Given the description of an element on the screen output the (x, y) to click on. 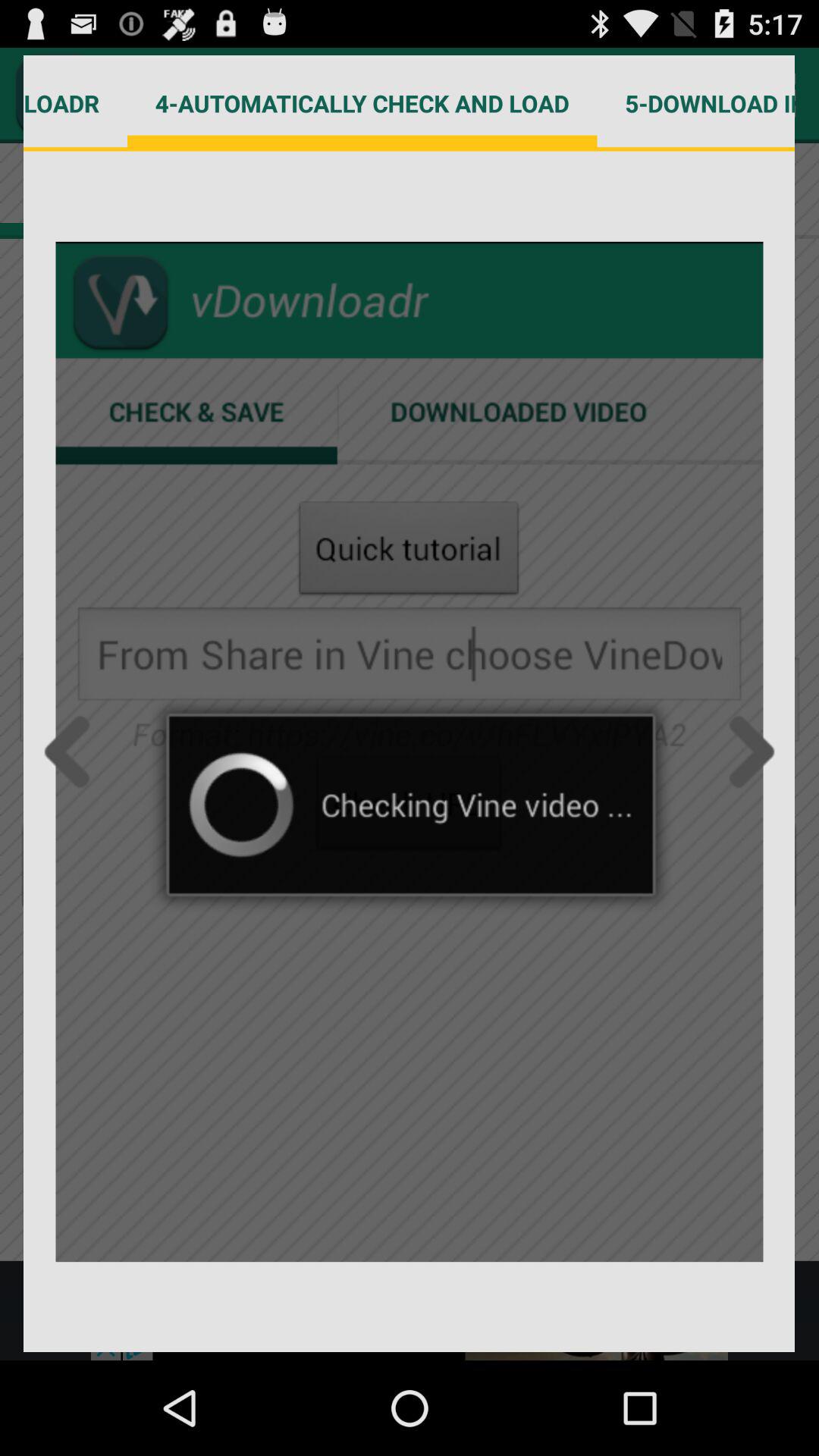
launch the item to the right of the 4 automatically check (696, 103)
